Given the description of an element on the screen output the (x, y) to click on. 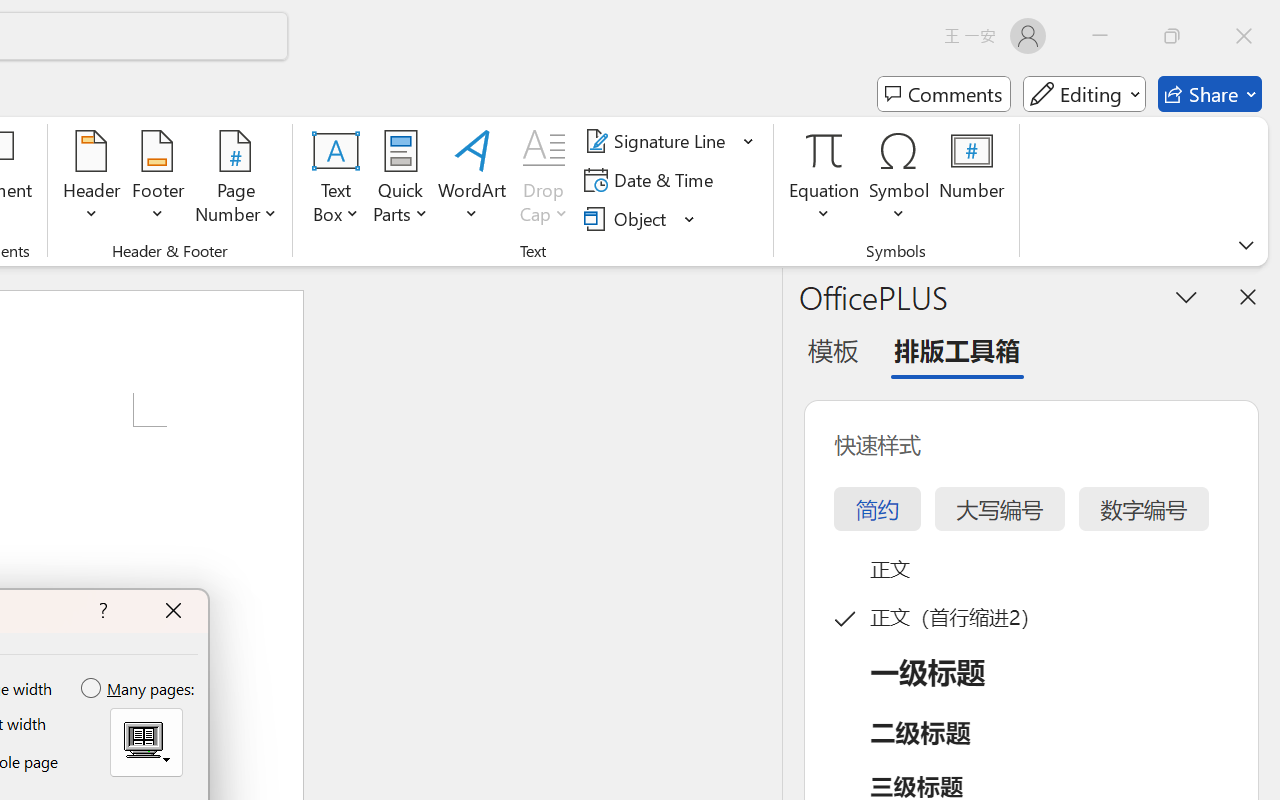
Footer (157, 179)
Object... (628, 218)
Multiple Pages (146, 742)
Header (92, 179)
